Given the description of an element on the screen output the (x, y) to click on. 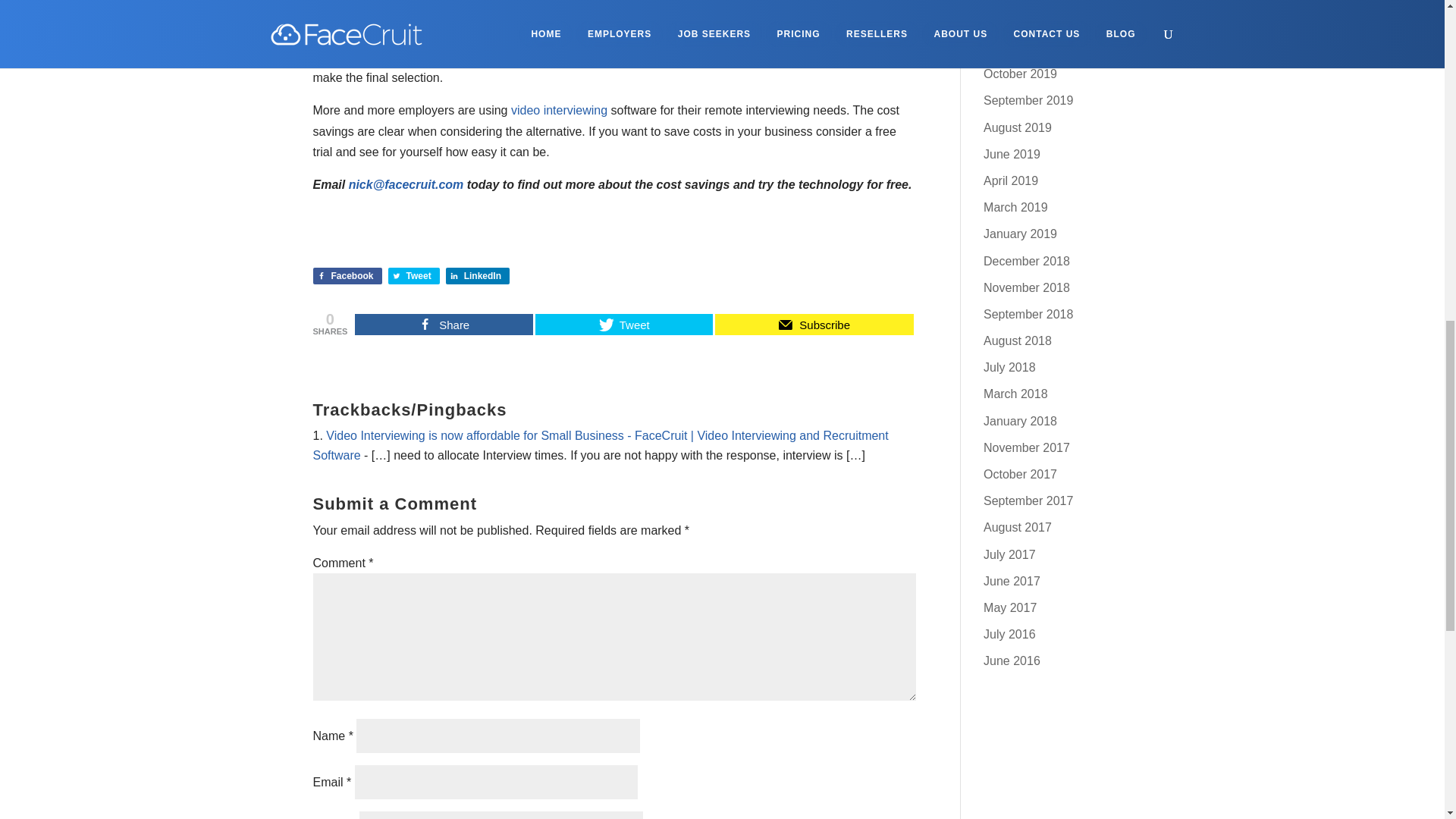
Facebook (347, 275)
Share (443, 323)
video interviewing (559, 110)
LinkedIn (477, 275)
Tweet (624, 323)
Share on Twitter (413, 275)
Share on LinkedIn (477, 275)
Share on Facebook (347, 275)
Subscribe (813, 323)
Tweet (413, 275)
